Given the description of an element on the screen output the (x, y) to click on. 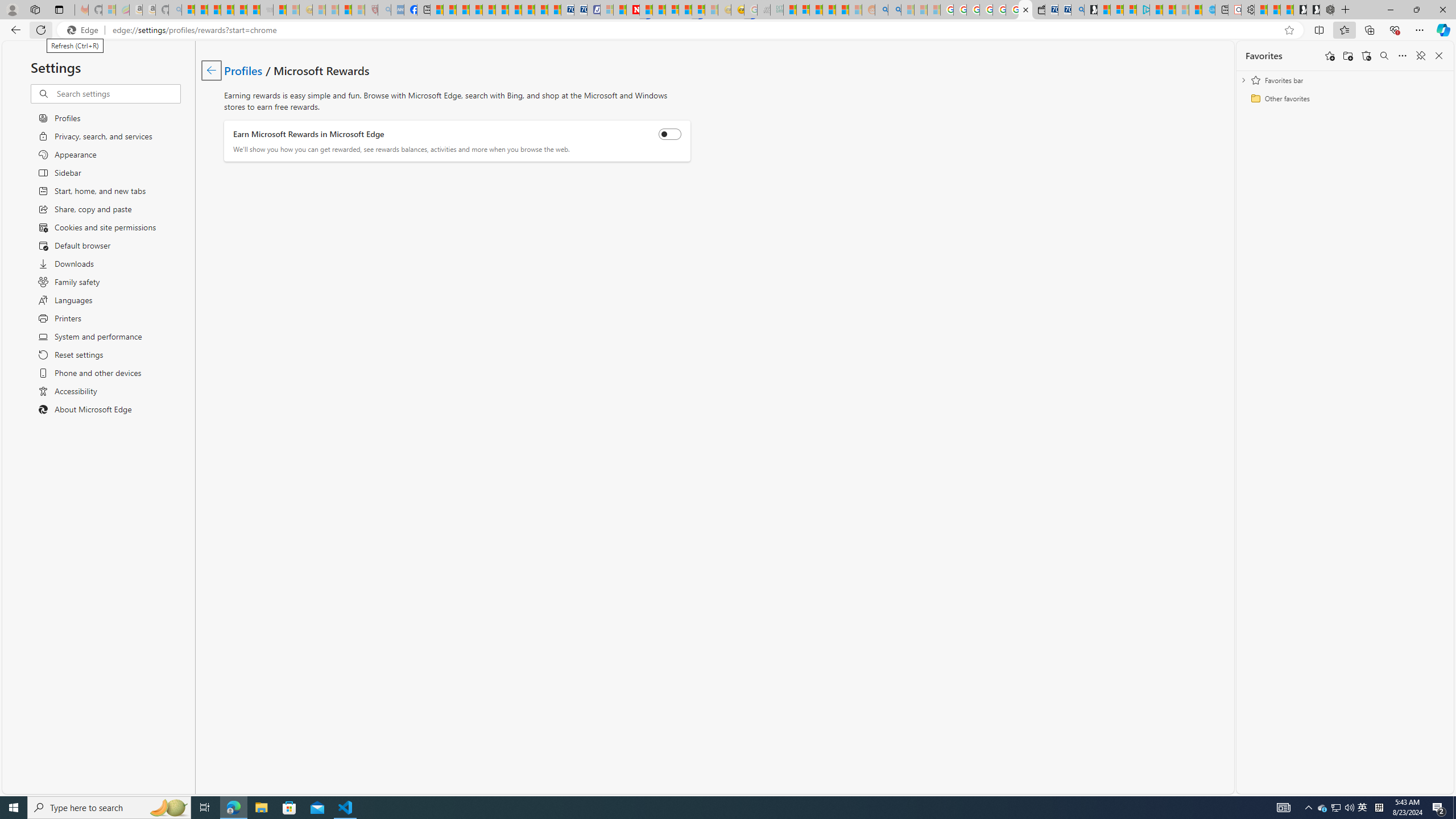
Add this page to favorites (1330, 55)
Restore deleted favorites (1366, 55)
